Given the description of an element on the screen output the (x, y) to click on. 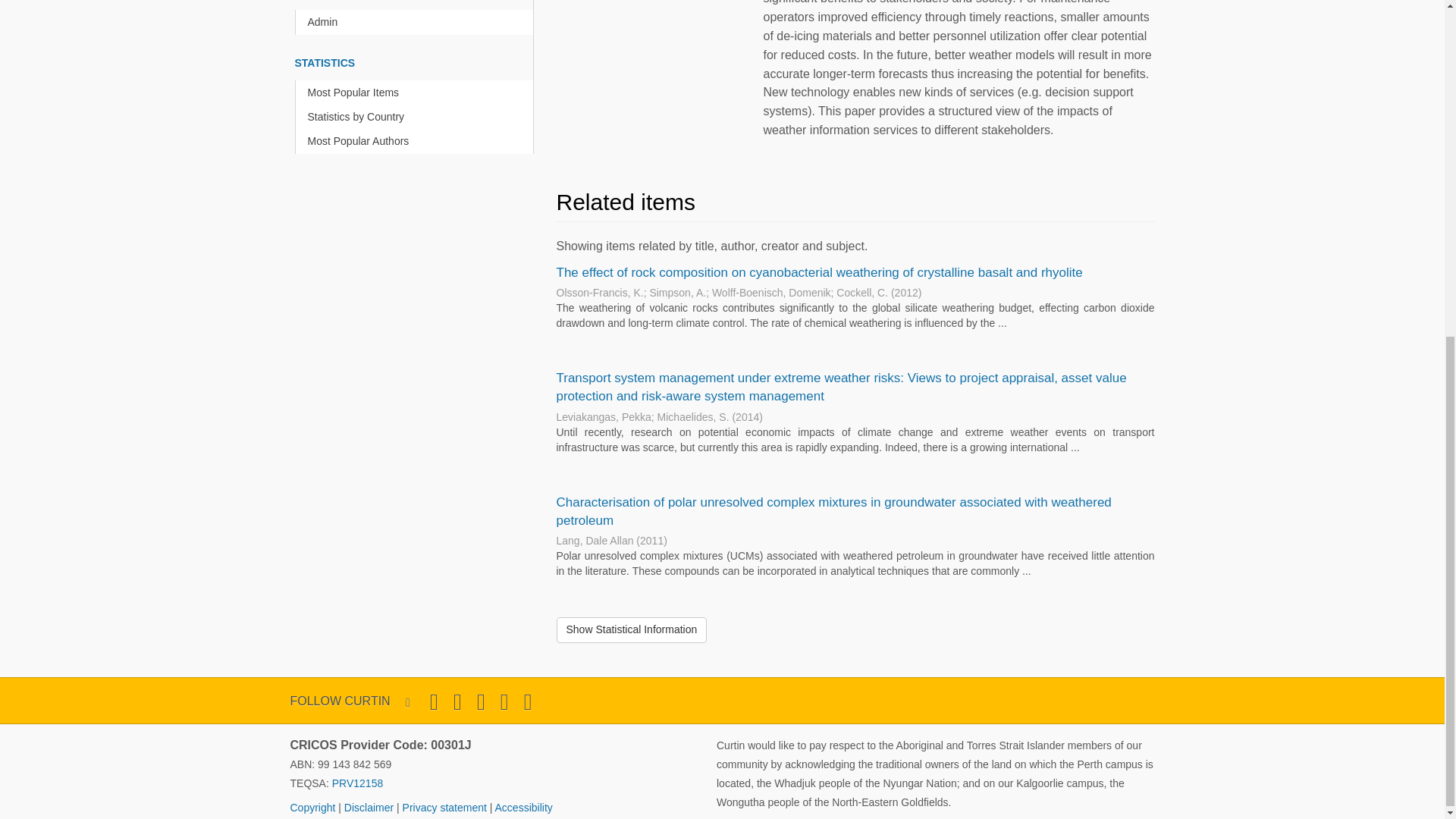
Most Popular Items (416, 92)
Admin (416, 22)
Show Statistical Information (631, 629)
